Given the description of an element on the screen output the (x, y) to click on. 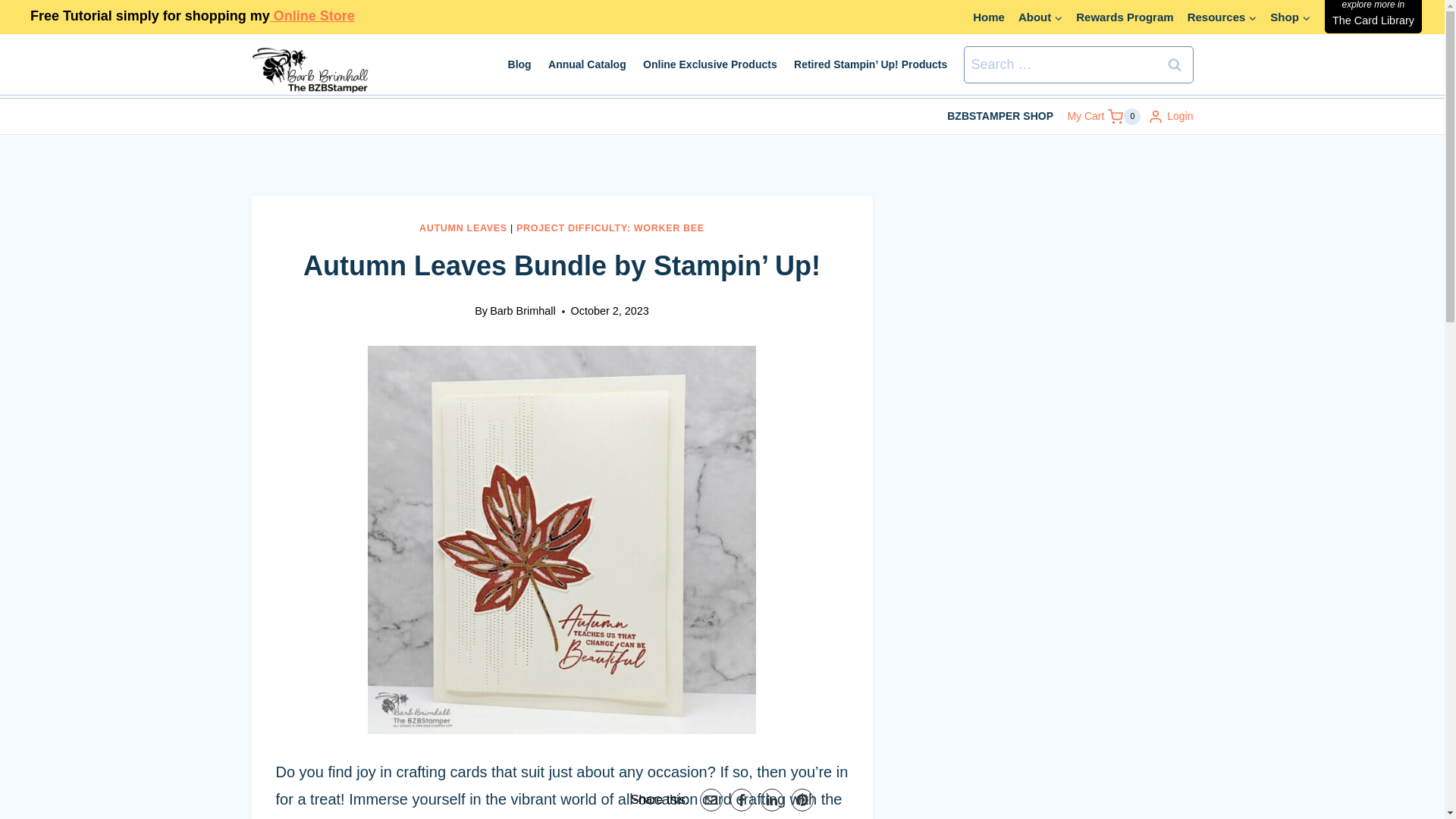
Online Exclusive Products (710, 64)
BZBSTAMPER SHOP (999, 116)
Resources (1103, 116)
The Card Library (1221, 17)
PROJECT DIFFICULTY: WORKER BEE (1373, 16)
Online Store (610, 227)
AUTUMN LEAVES (312, 15)
Home (462, 227)
Autumn Leaves Bundle by Stampin' Up! 1 (988, 17)
